Given the description of an element on the screen output the (x, y) to click on. 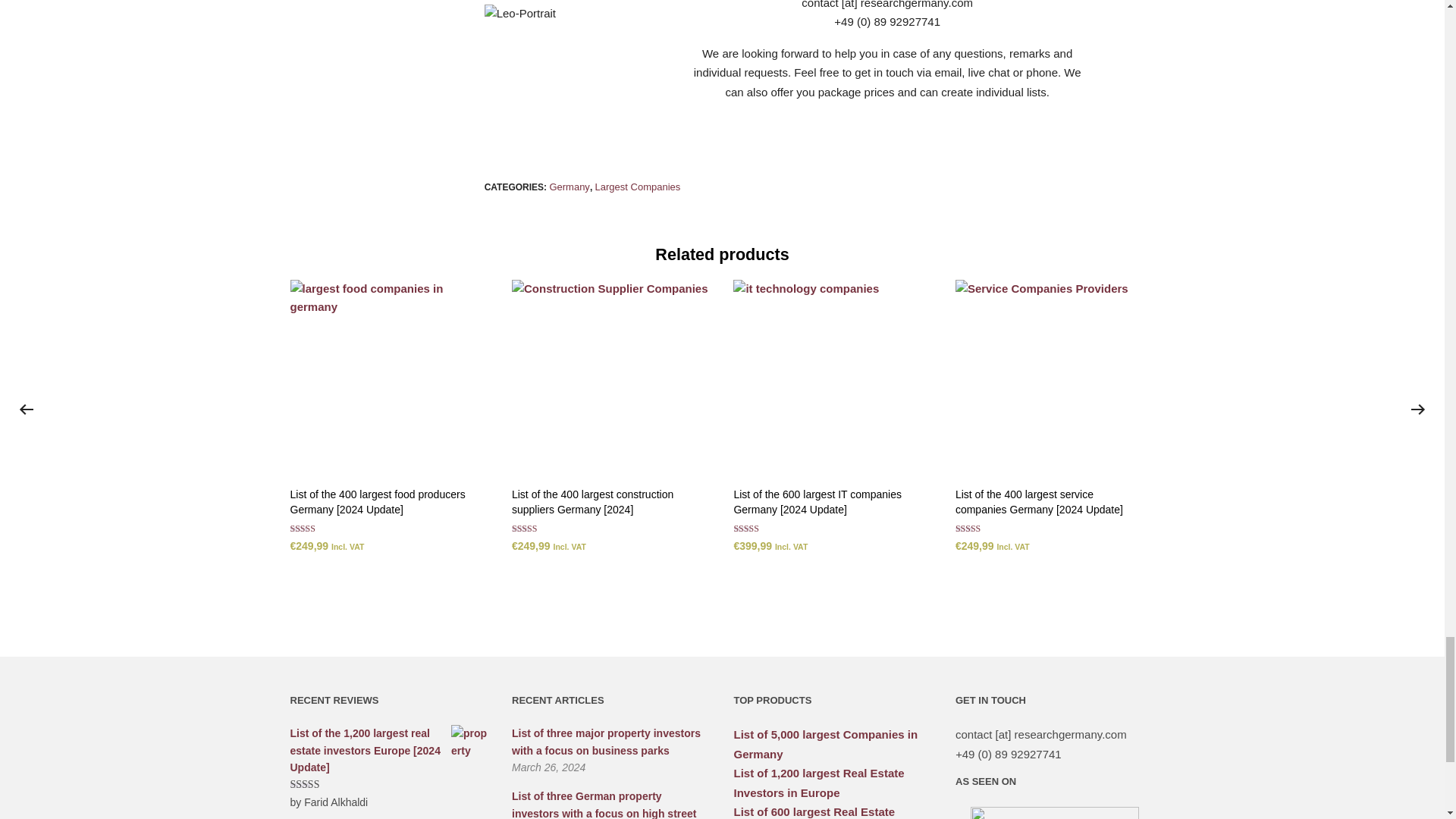
Germany (568, 186)
Largest Companies (638, 186)
Leo-Portrait (520, 13)
